Given the description of an element on the screen output the (x, y) to click on. 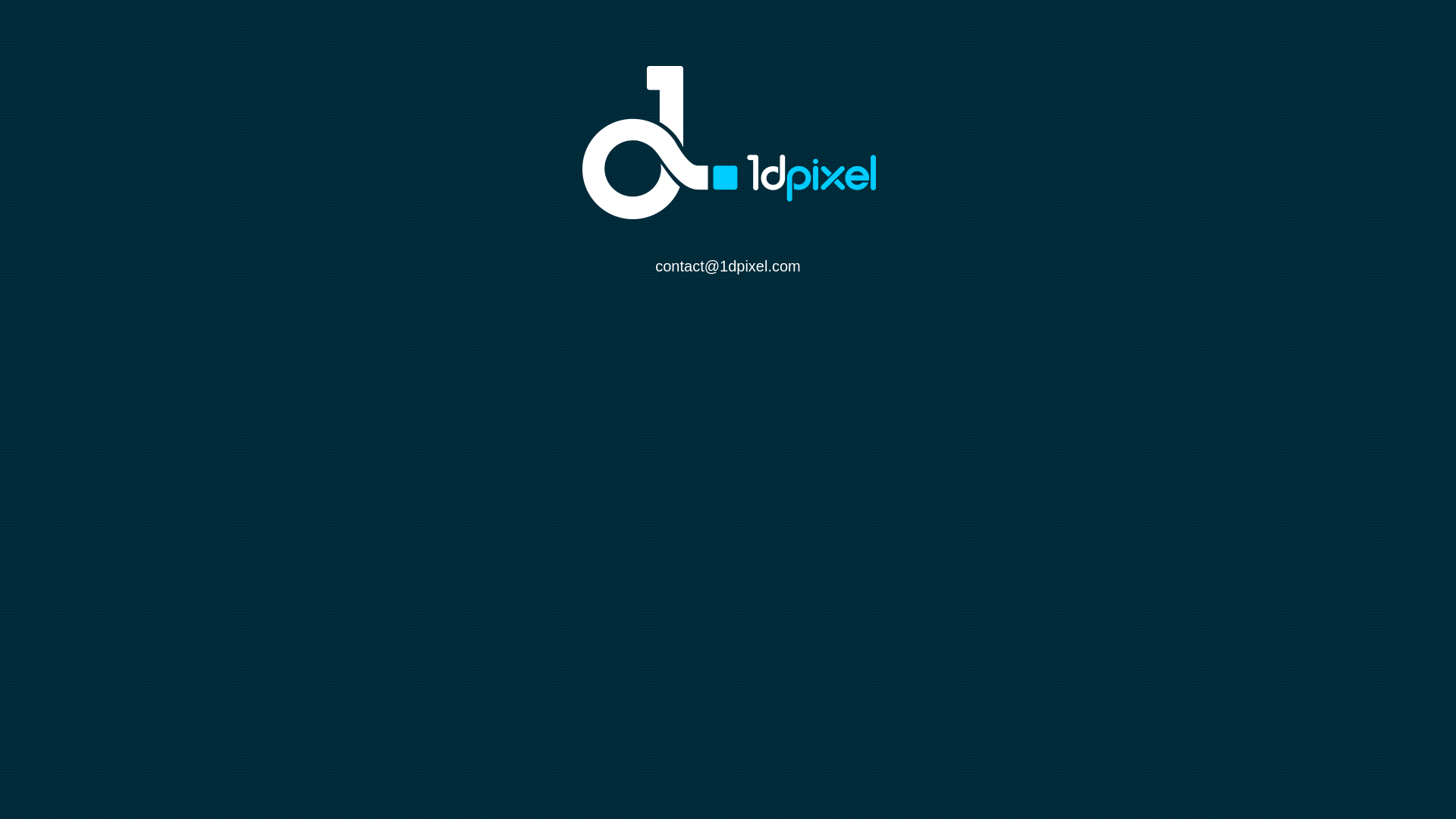
contact@1dpixel.com Element type: text (727, 265)
